Given the description of an element on the screen output the (x, y) to click on. 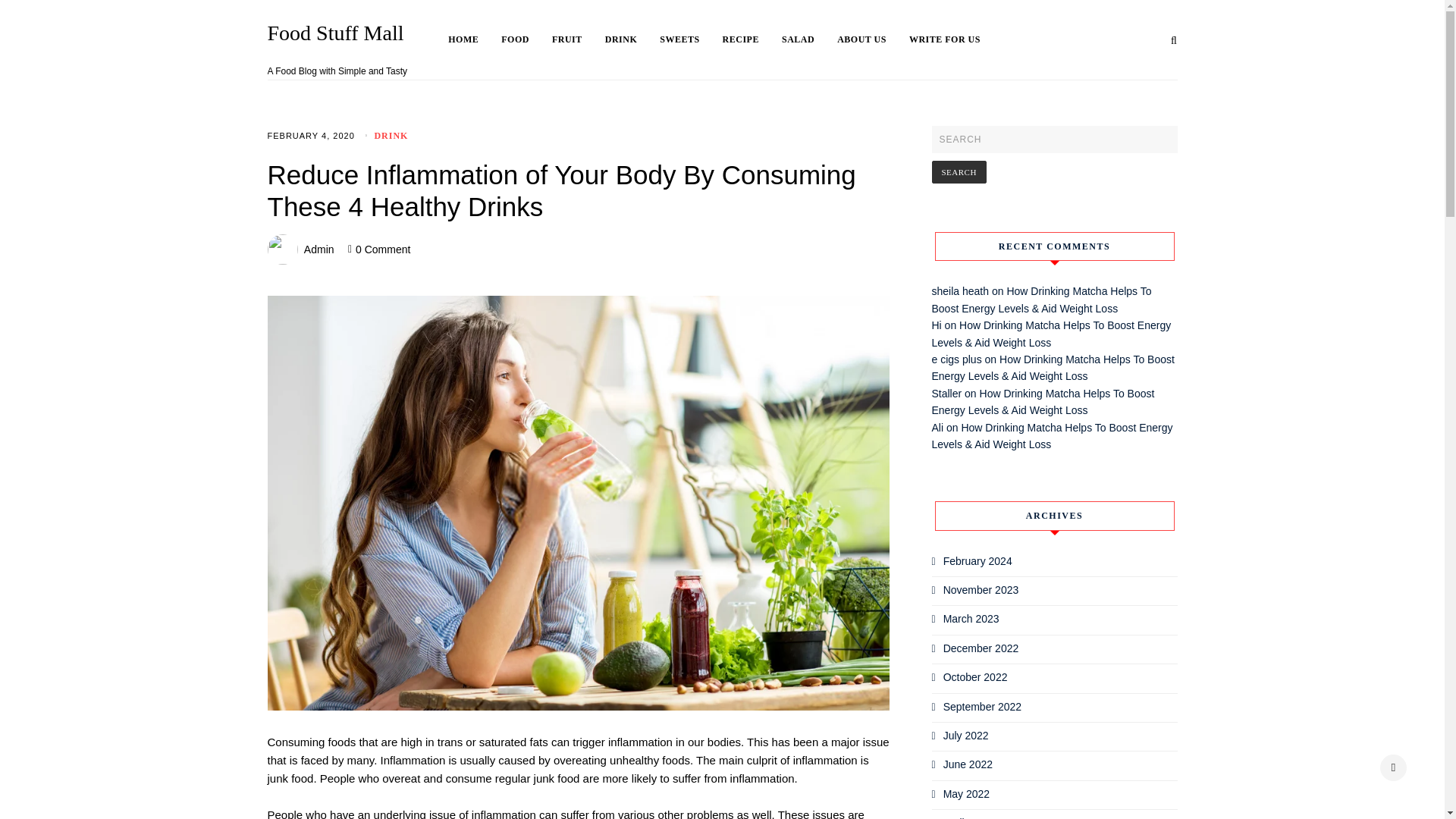
RECIPE (751, 39)
FRUIT (578, 39)
SWEETS (690, 39)
November 2023 (981, 589)
Posts by admin (319, 249)
SALAD (809, 39)
HOME (474, 39)
December 2022 (981, 648)
DRINK (390, 135)
July 2022 (965, 735)
February 2024 (977, 561)
FEBRUARY 4, 2020 (309, 135)
Scroll To Top (1393, 767)
September 2022 (982, 706)
WRITE FOR US (943, 39)
